Given the description of an element on the screen output the (x, y) to click on. 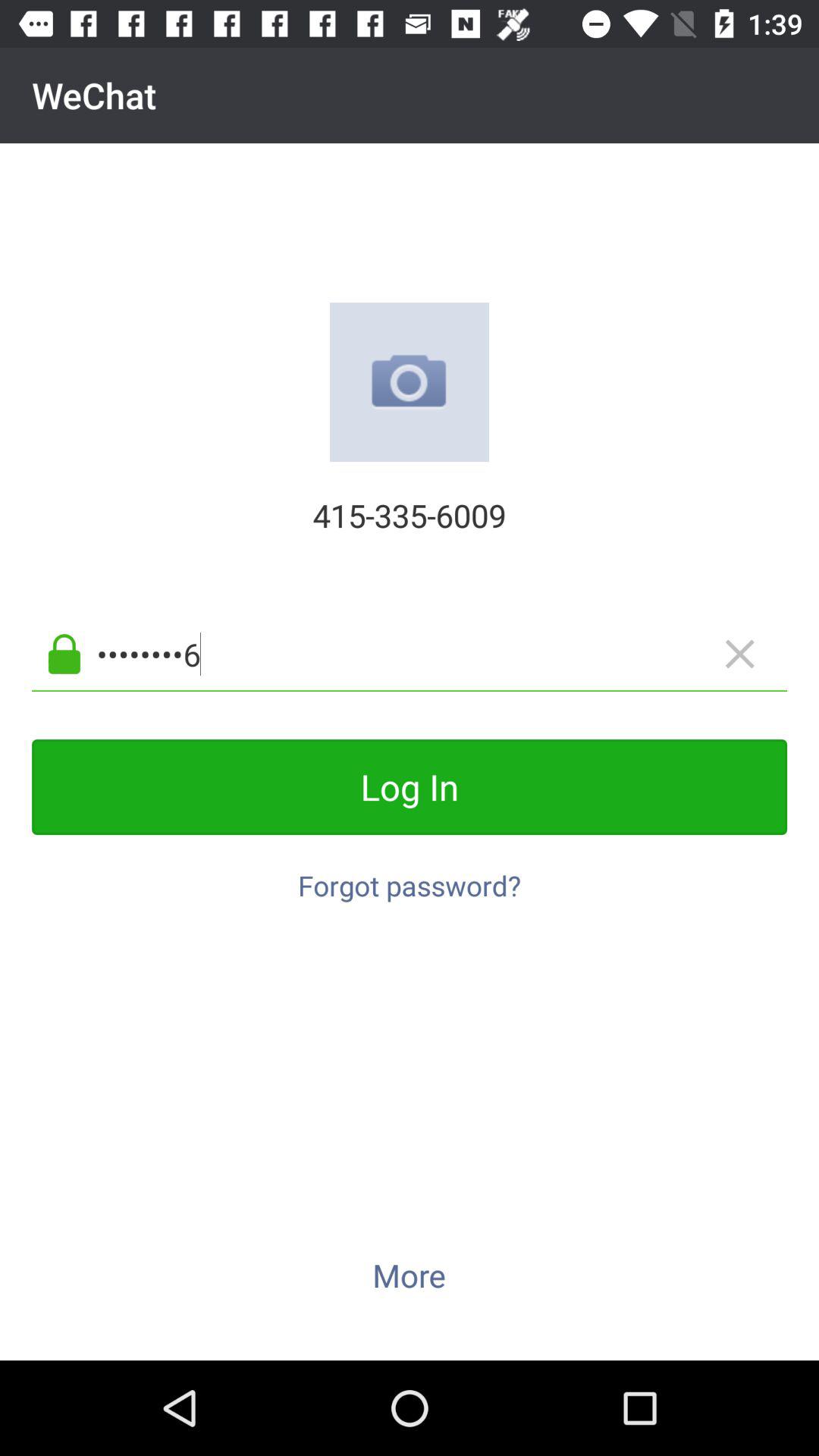
click button above log in (433, 653)
